Given the description of an element on the screen output the (x, y) to click on. 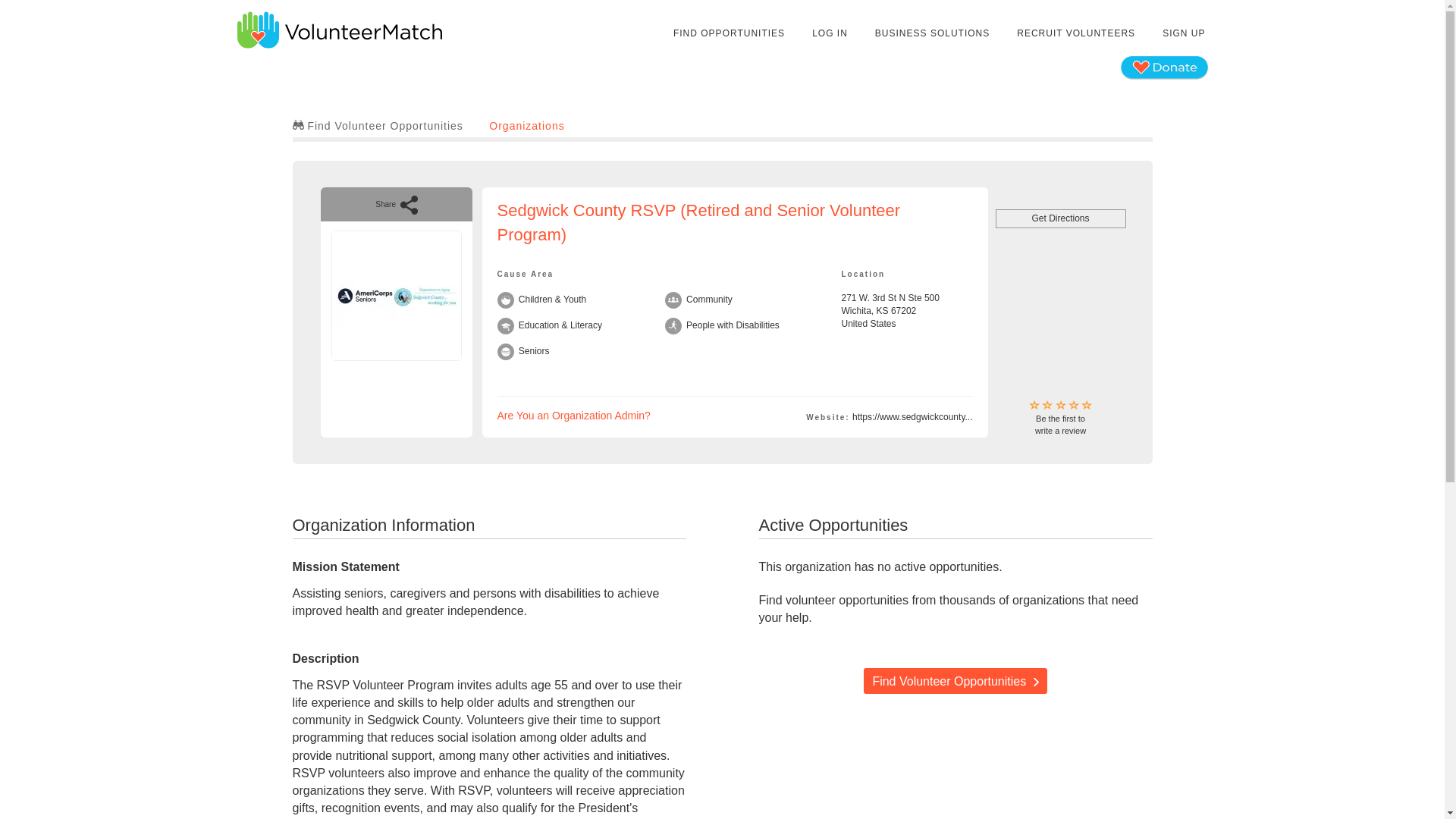
Get Directions (1059, 218)
SIGN UP (573, 415)
BUSINESS SOLUTIONS (1183, 32)
Find Volunteer Opportunities (1059, 418)
LOG IN (931, 32)
Find Volunteer Opportunities (954, 680)
Organizations (829, 32)
FIND OPPORTUNITIES (377, 125)
RECRUIT VOLUNTEERS (526, 125)
